Given the description of an element on the screen output the (x, y) to click on. 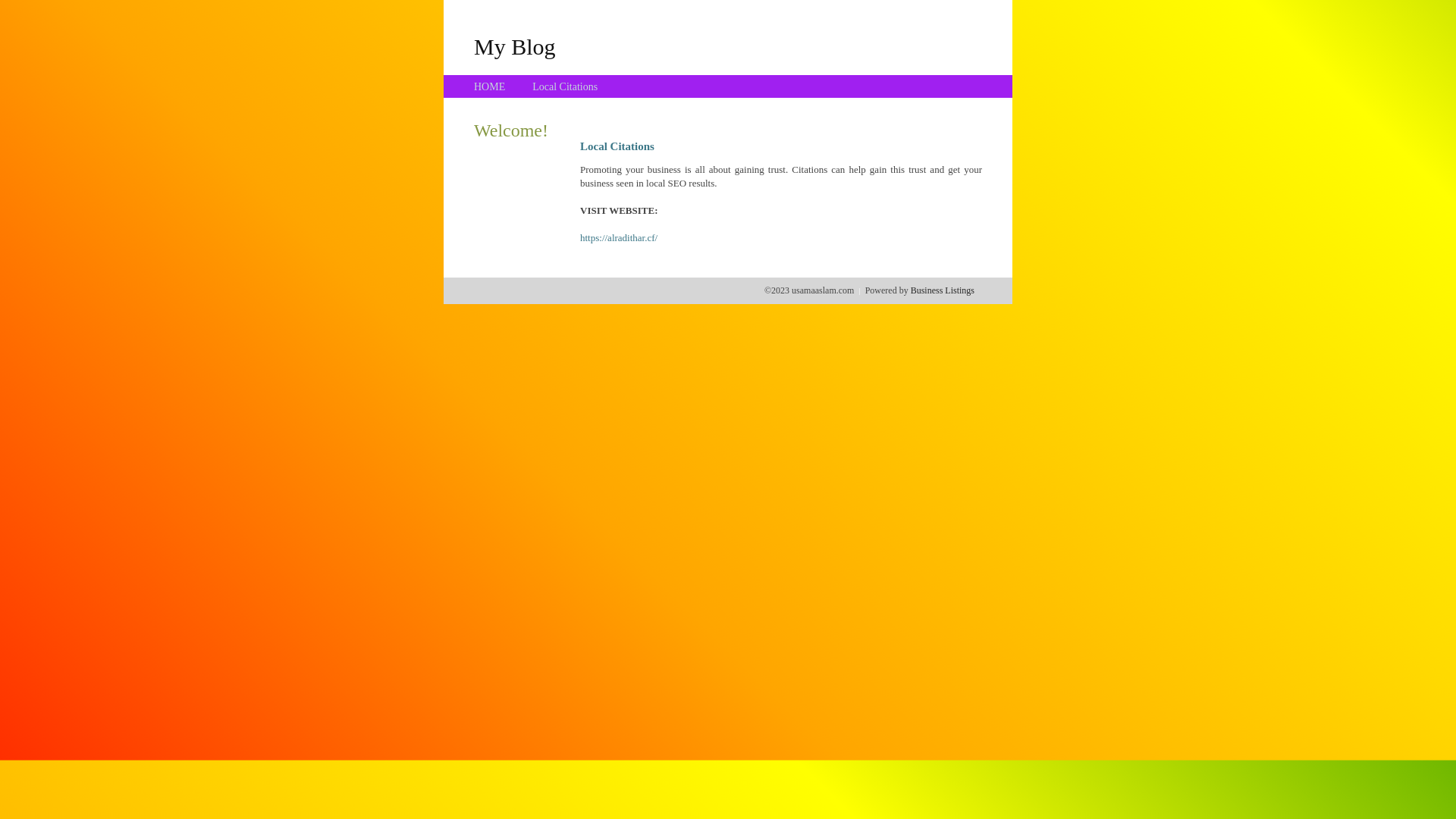
HOME Element type: text (489, 86)
Local Citations Element type: text (564, 86)
My Blog Element type: text (514, 46)
Business Listings Element type: text (942, 290)
https://alradithar.cf/ Element type: text (618, 237)
